Given the description of an element on the screen output the (x, y) to click on. 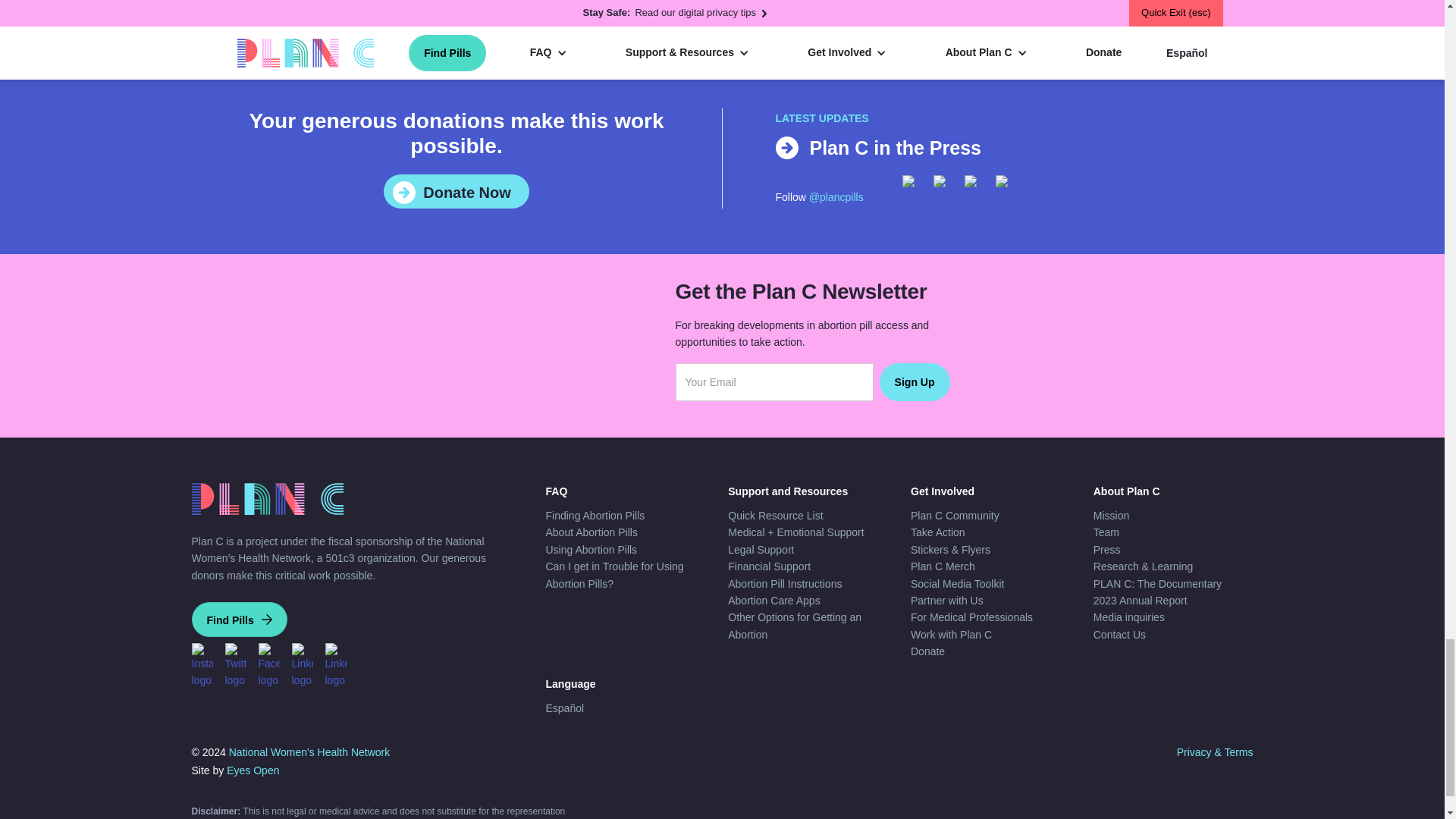
Plan C logo (266, 499)
Sign Up (914, 382)
